Given the description of an element on the screen output the (x, y) to click on. 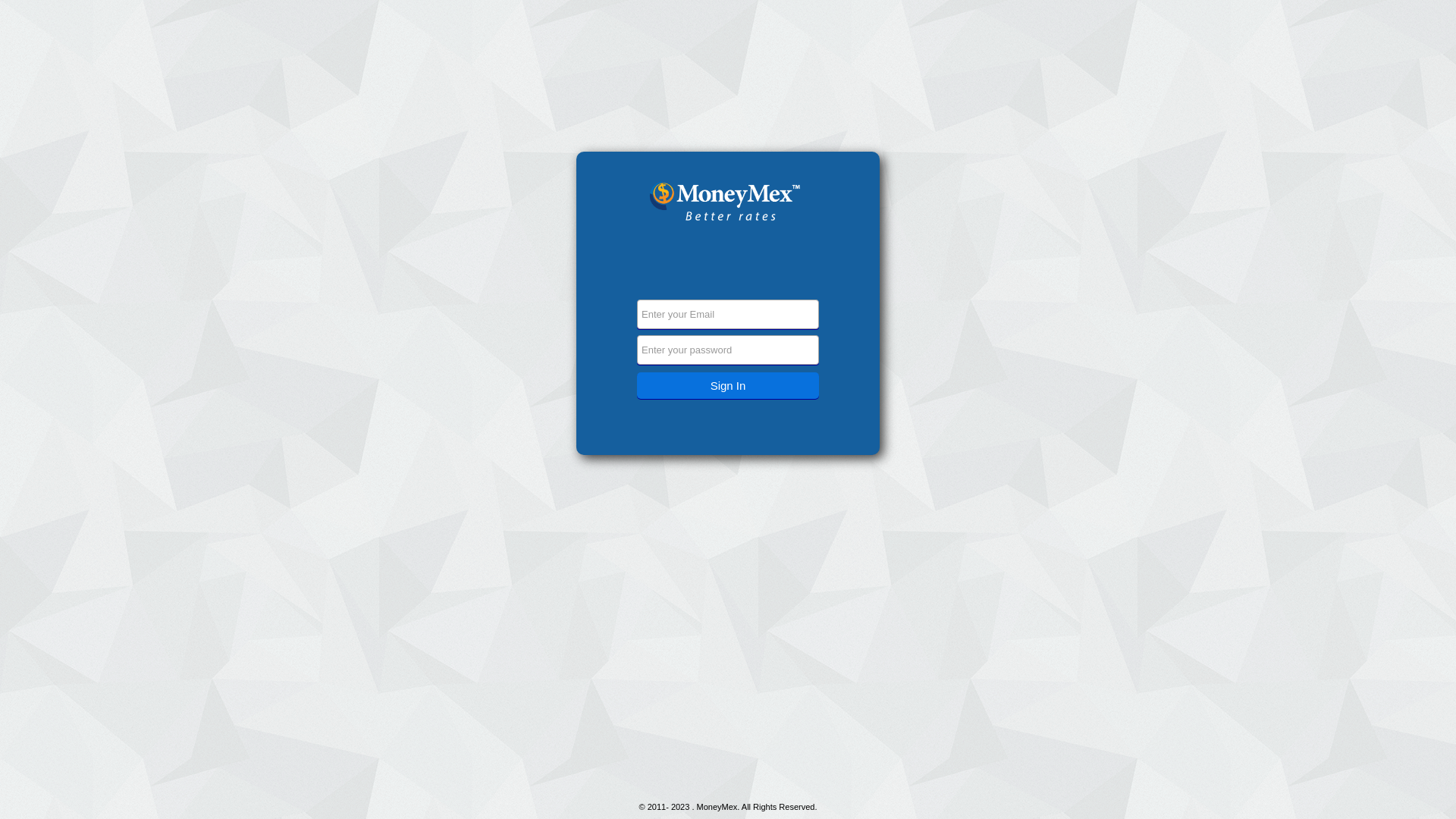
Sign In Element type: text (728, 385)
